Given the description of an element on the screen output the (x, y) to click on. 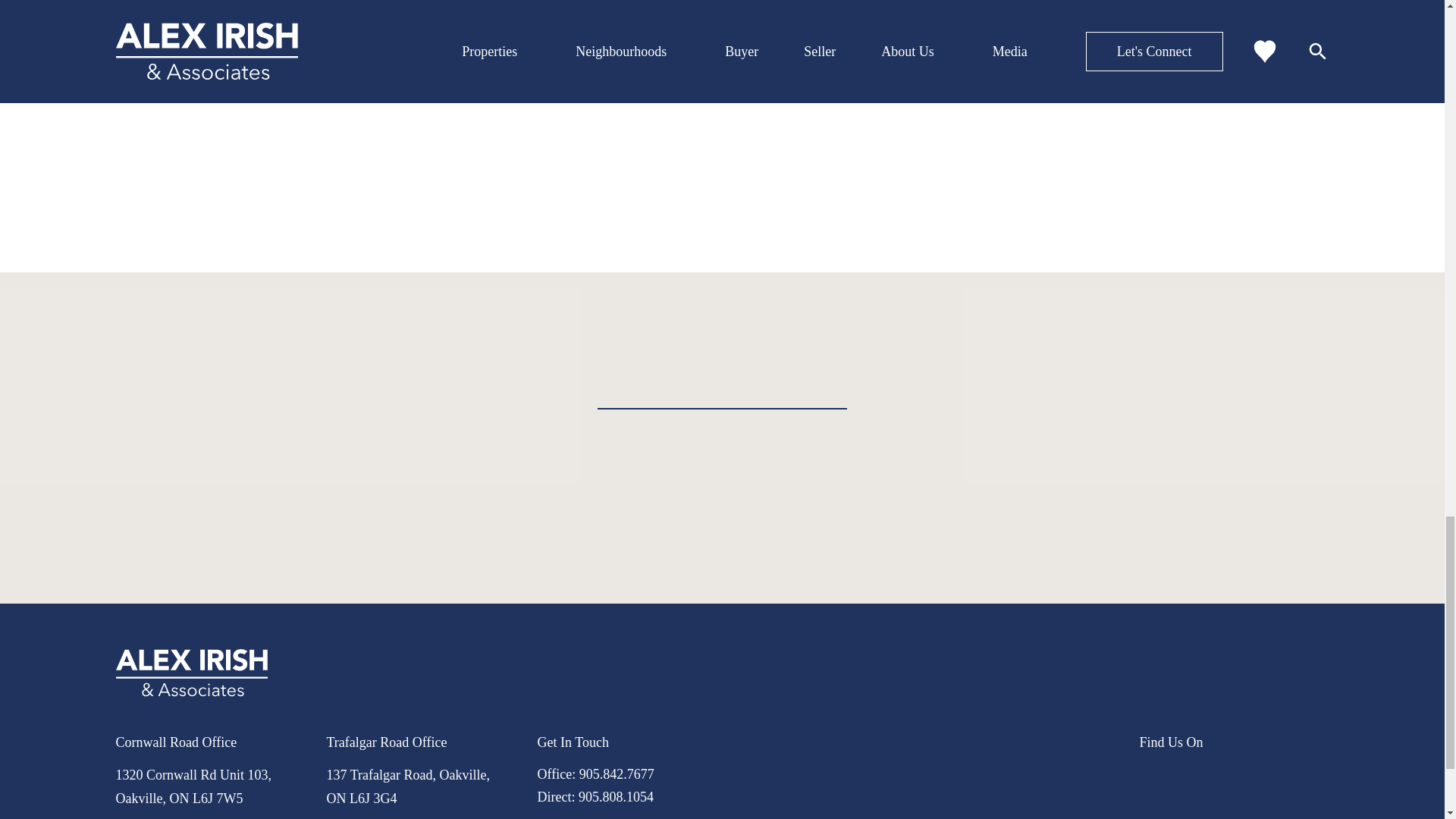
Get In Touch (572, 742)
905.808.1054 (615, 796)
905.842.7677 (616, 774)
137 Trafalgar Road, Oakville, ON L6J 3G4 (407, 786)
1320 Cornwall Rd Unit 103, Oakville, ON L6J 7W5 (192, 786)
